Given the description of an element on the screen output the (x, y) to click on. 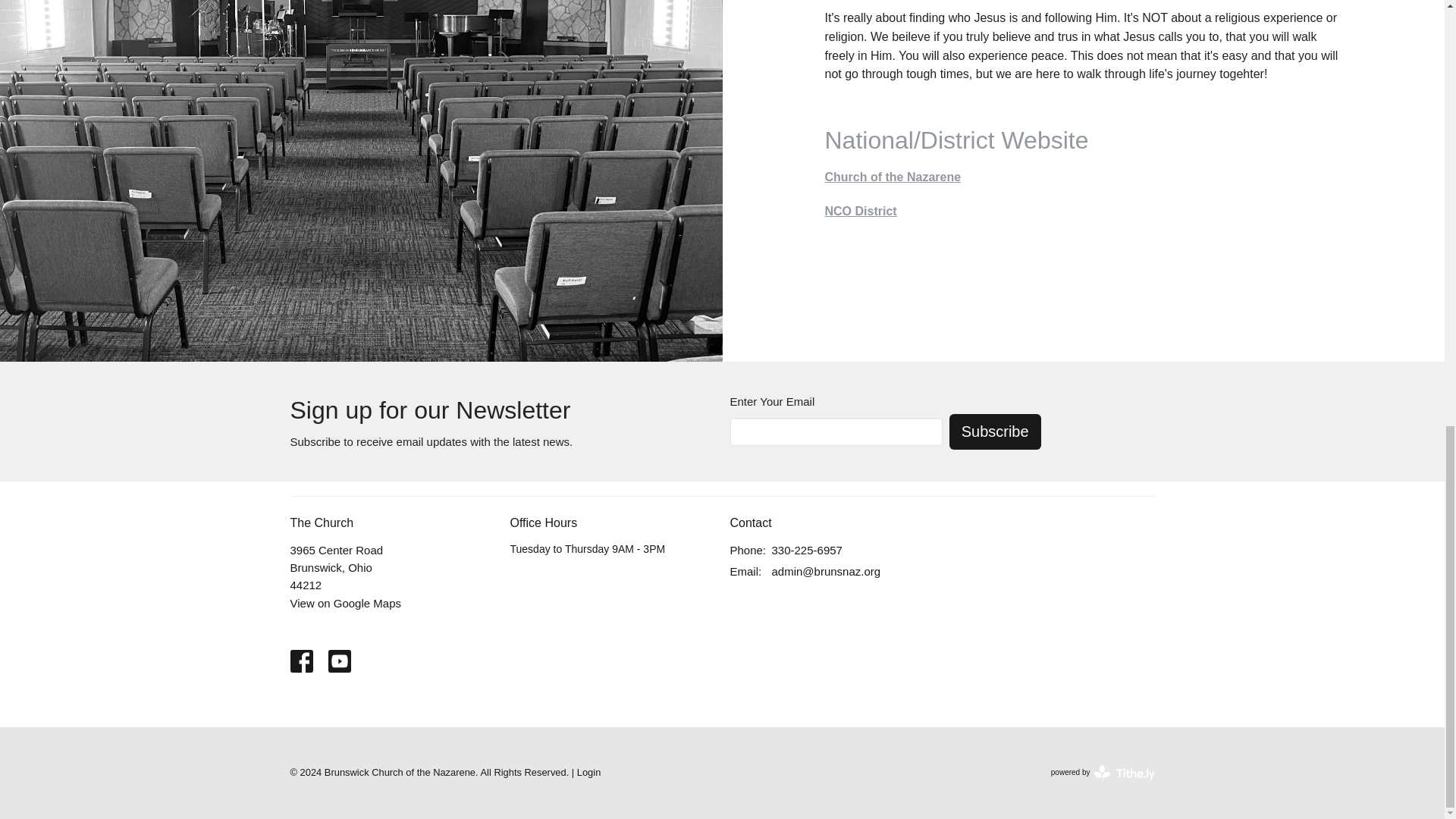
Login (588, 772)
Subscribe (995, 431)
Church of the Nazarene (1102, 772)
View on Google Maps (892, 176)
330-225-6957 (344, 603)
translation missing: en.ui.email (807, 549)
NCO District (743, 571)
